Given the description of an element on the screen output the (x, y) to click on. 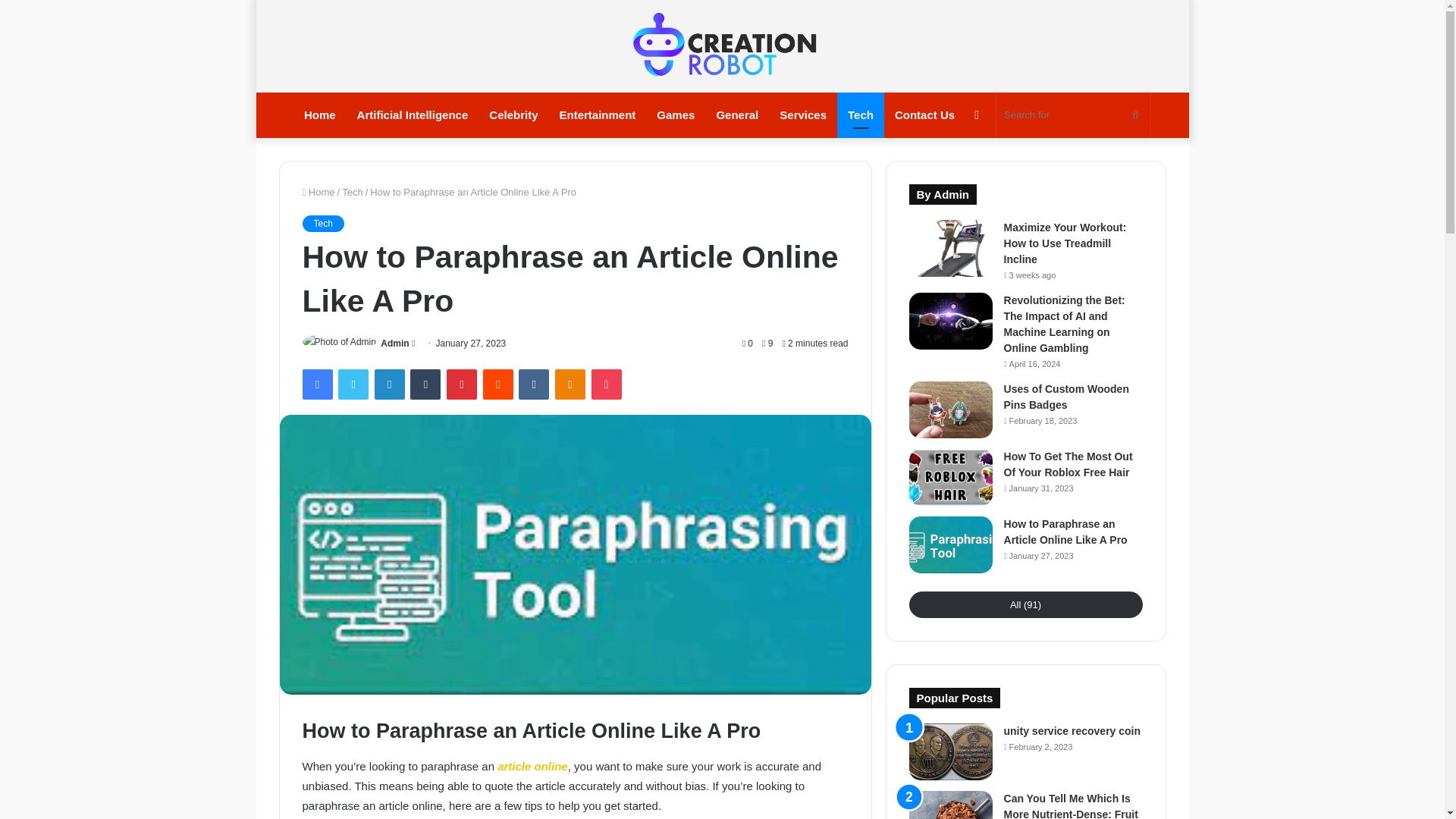
Pinterest (461, 384)
Celebrity (513, 115)
Pinterest (461, 384)
Entertainment (597, 115)
Search for (1072, 115)
Twitter (352, 384)
VKontakte (533, 384)
Tumblr (425, 384)
LinkedIn (389, 384)
Admin (394, 343)
Twitter (352, 384)
Reddit (498, 384)
Tech (352, 192)
Contact Us (924, 115)
Odnoklassniki (569, 384)
